Given the description of an element on the screen output the (x, y) to click on. 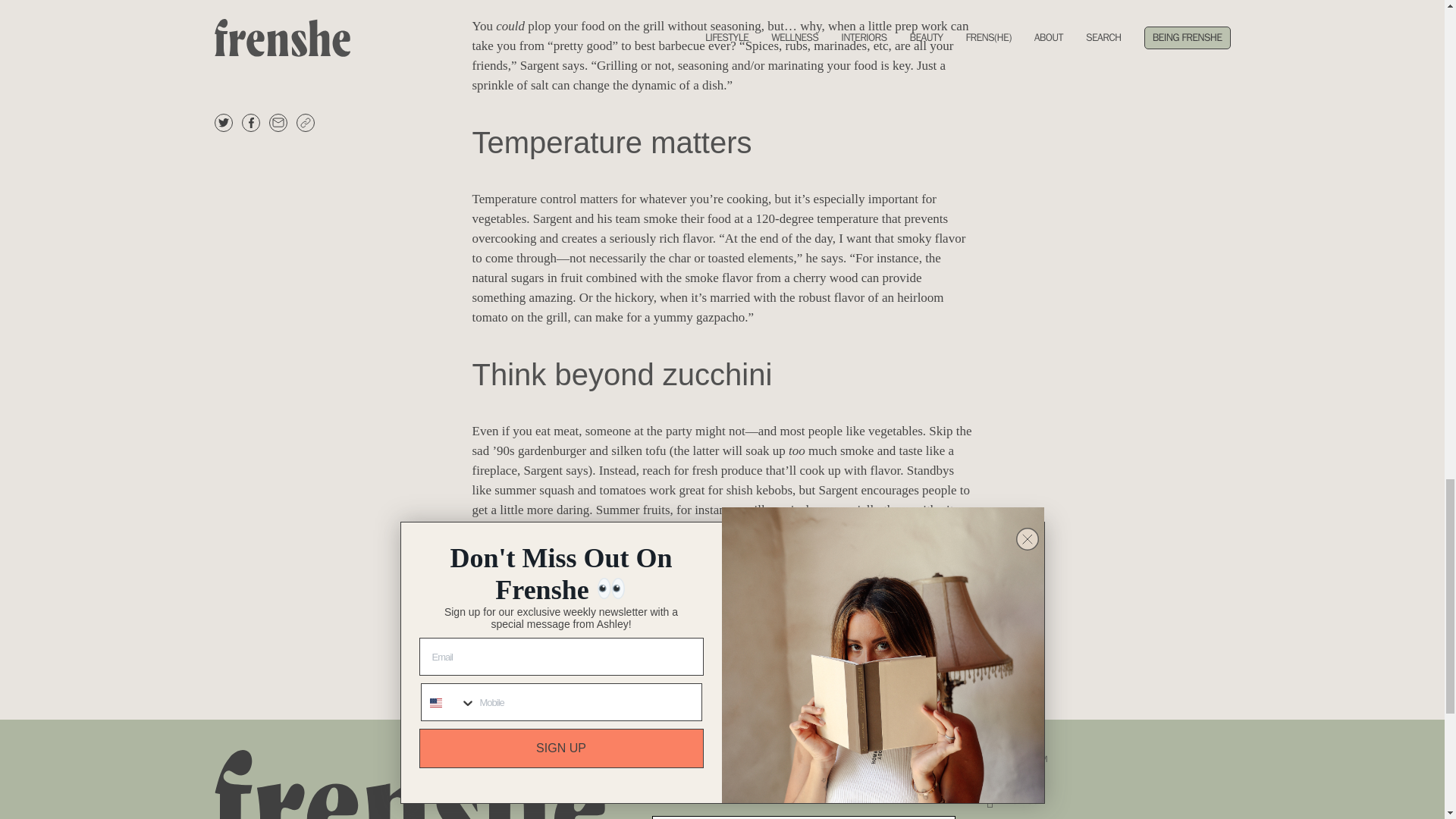
FACEBOOK (1047, 800)
INSTAGRAM (1047, 759)
Frenshe (417, 784)
his book (835, 529)
